Given the description of an element on the screen output the (x, y) to click on. 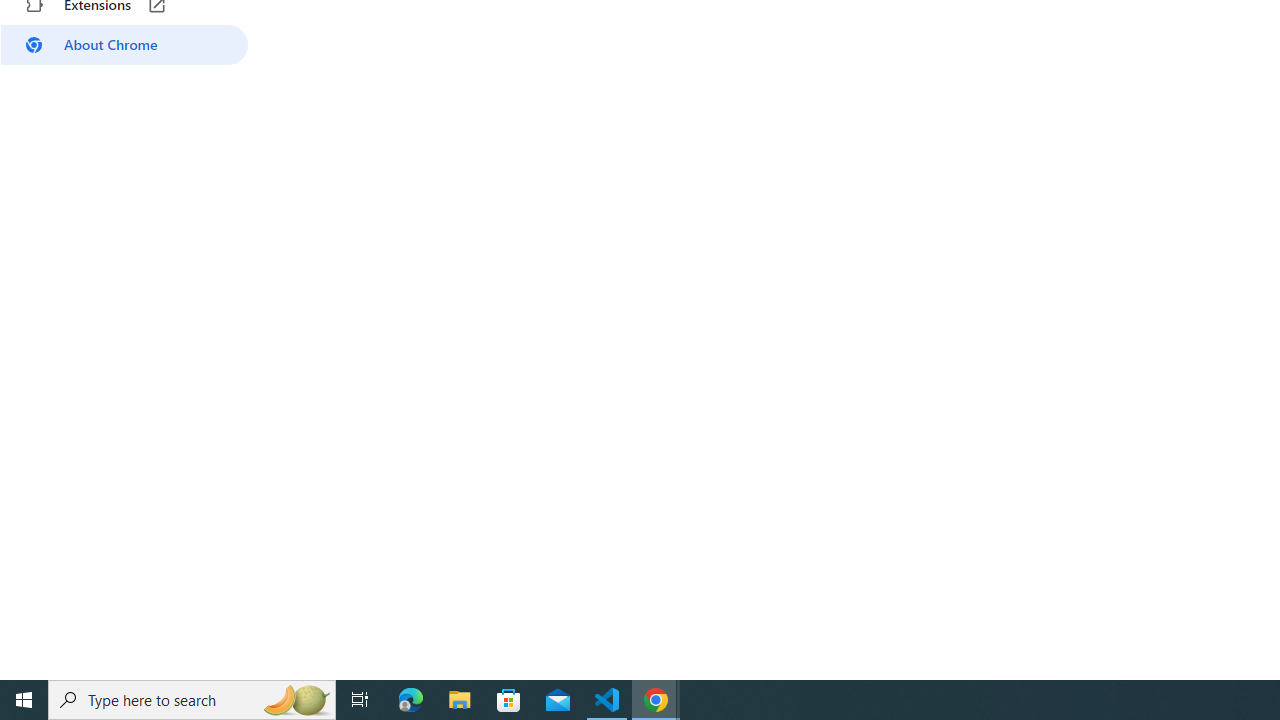
About Chrome (124, 44)
